Given the description of an element on the screen output the (x, y) to click on. 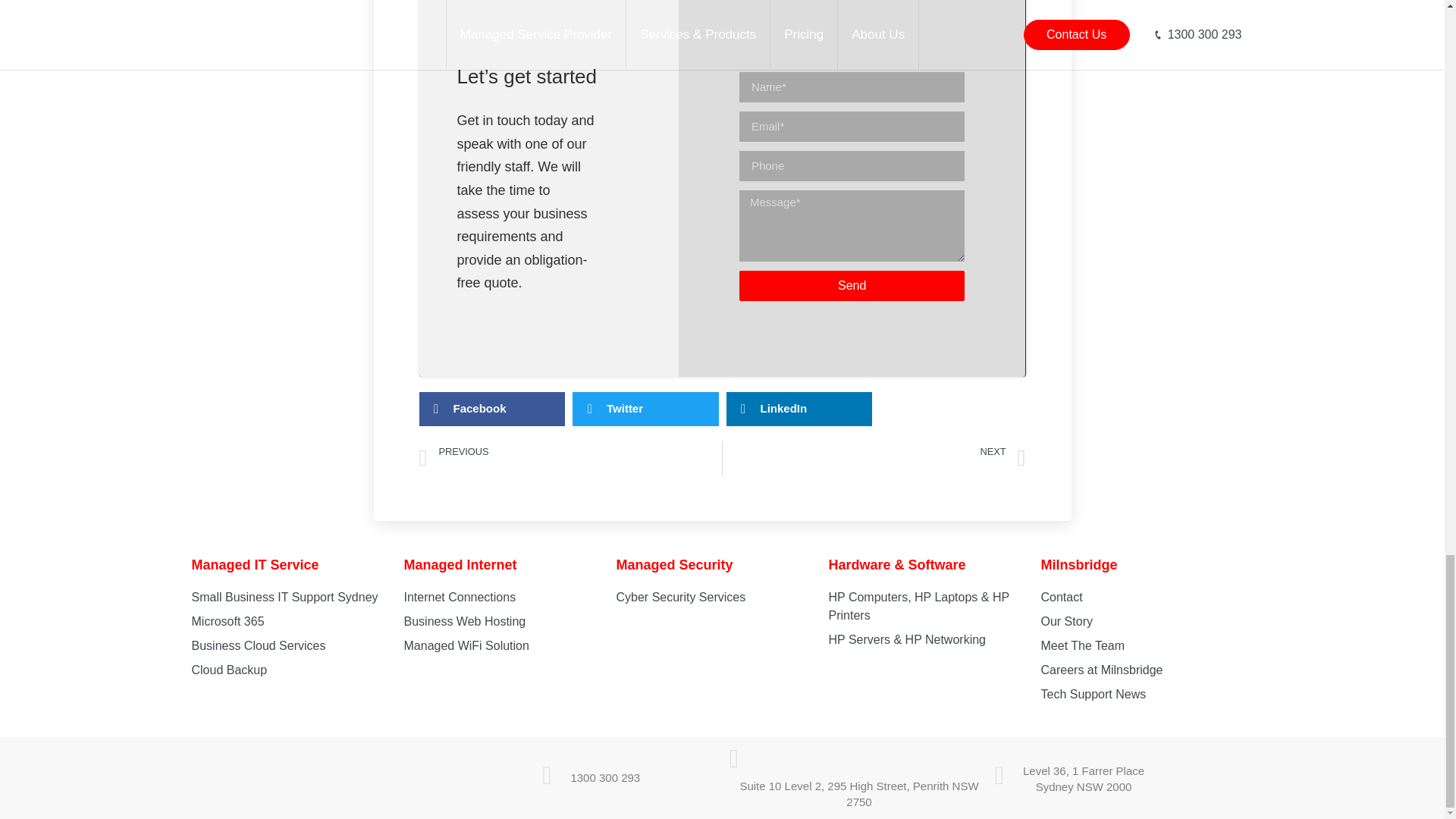
Cloud Backup (228, 669)
Send (874, 458)
Business Web Hosting (852, 286)
Small Business IT Support Sydney (464, 621)
mb-logo-footer (283, 596)
Managed WiFi Solution (308, 777)
Internet Connections (465, 645)
Business Cloud Services (459, 596)
Microsoft 365 (257, 645)
